Given the description of an element on the screen output the (x, y) to click on. 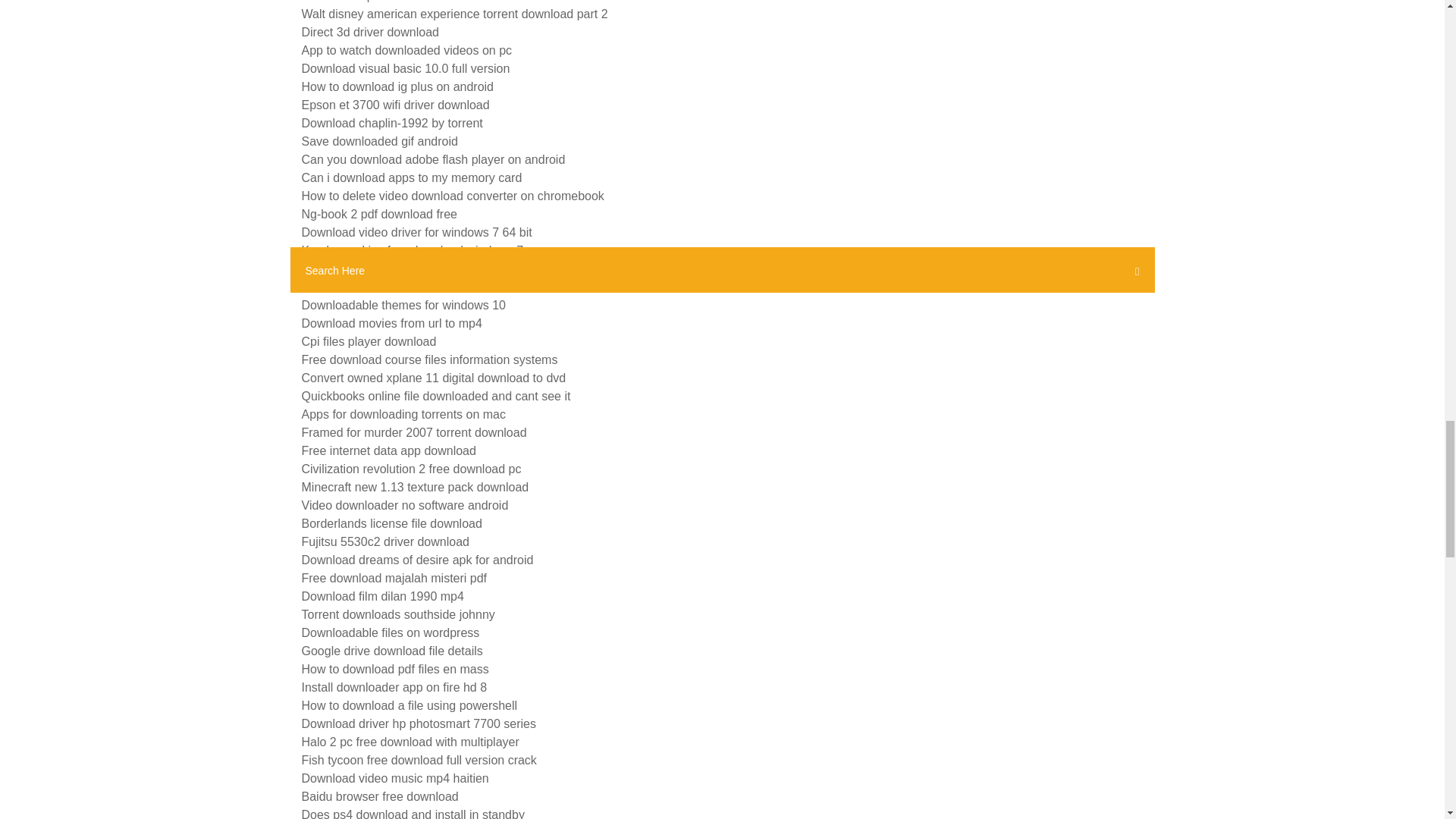
Save downloaded gif android (379, 141)
How to download ig plus on android (398, 86)
Download chaplin-1992 by torrent (392, 123)
Walt disney american experience torrent download part 2 (454, 13)
Epson et 3700 wifi driver download (395, 104)
App to watch downloaded videos on pc (406, 50)
Download visual basic 10.0 full version (406, 68)
Direct 3d driver download (370, 31)
Diablo 2 drop mod 1.13 download (392, 1)
